Given the description of an element on the screen output the (x, y) to click on. 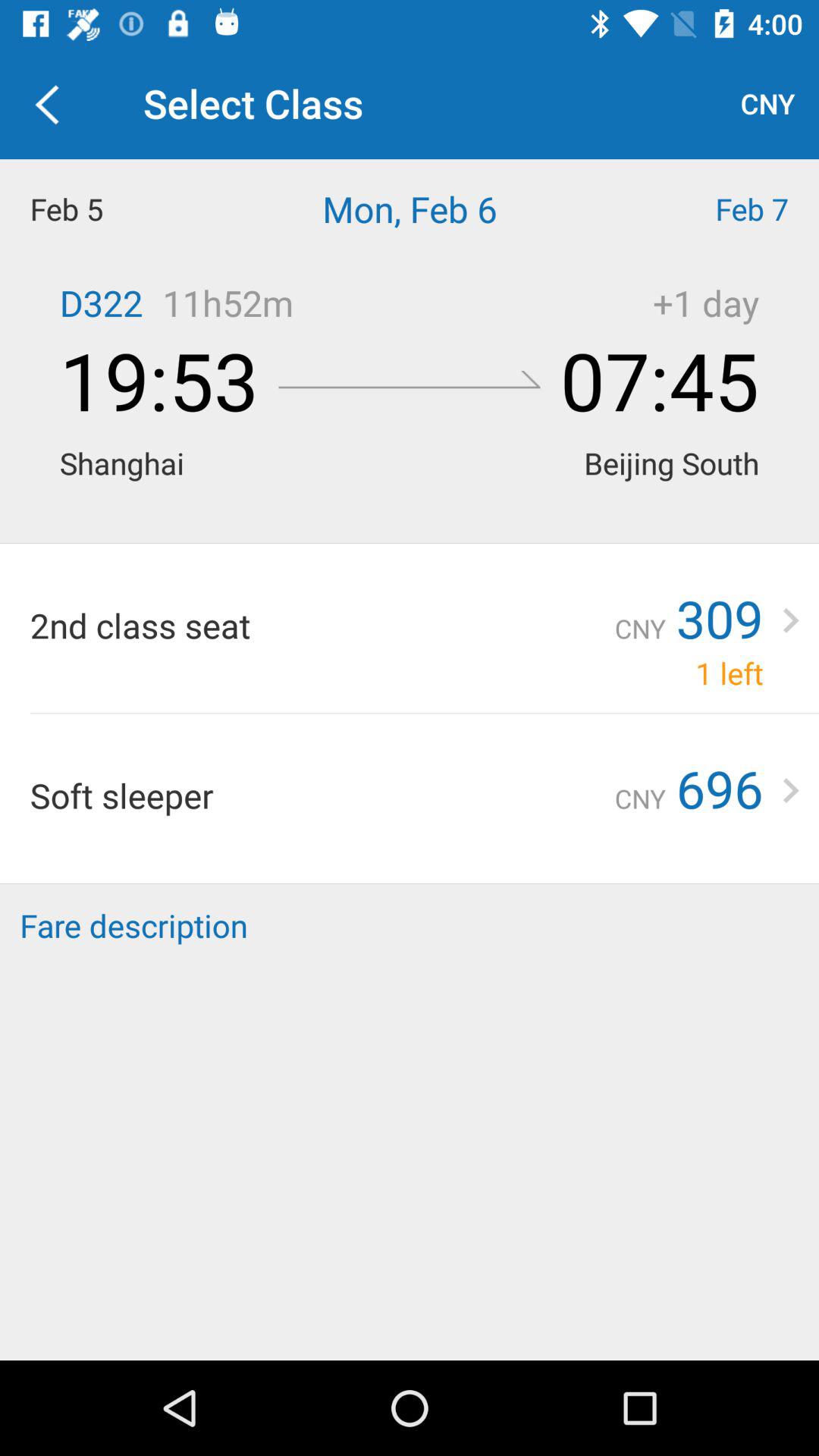
choose the icon to the right of the feb 5 icon (409, 208)
